Given the description of an element on the screen output the (x, y) to click on. 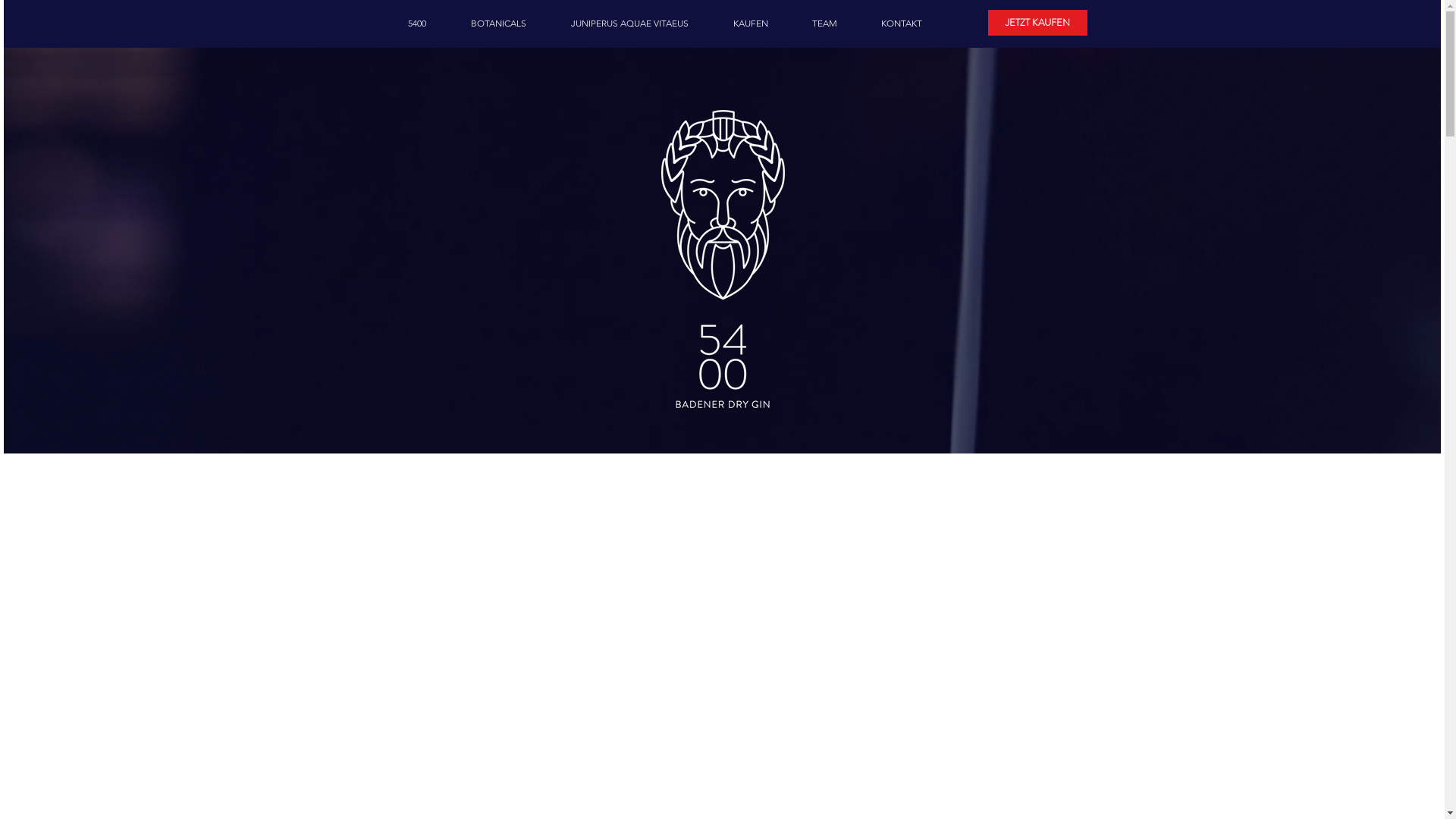
JETZT KAUFEN Element type: text (1036, 22)
5400 Element type: text (416, 23)
TEAM Element type: text (824, 23)
JUNIPERUS AQUAE VITAEUS Element type: text (630, 23)
KAUFEN Element type: text (750, 23)
KONTAKT Element type: text (900, 23)
BOTANICALS Element type: text (498, 23)
